Given the description of an element on the screen output the (x, y) to click on. 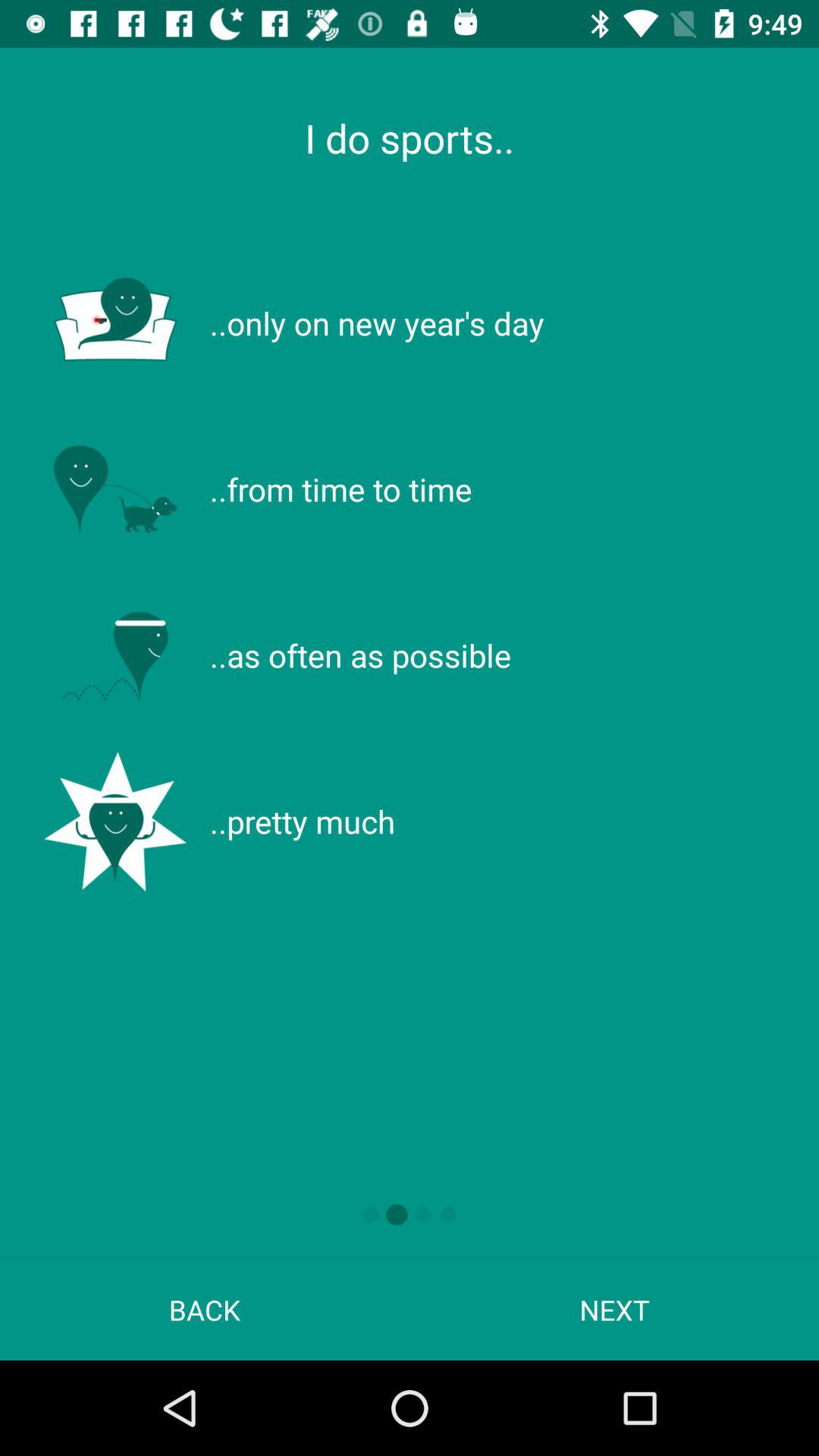
turn on item next to back (614, 1309)
